Given the description of an element on the screen output the (x, y) to click on. 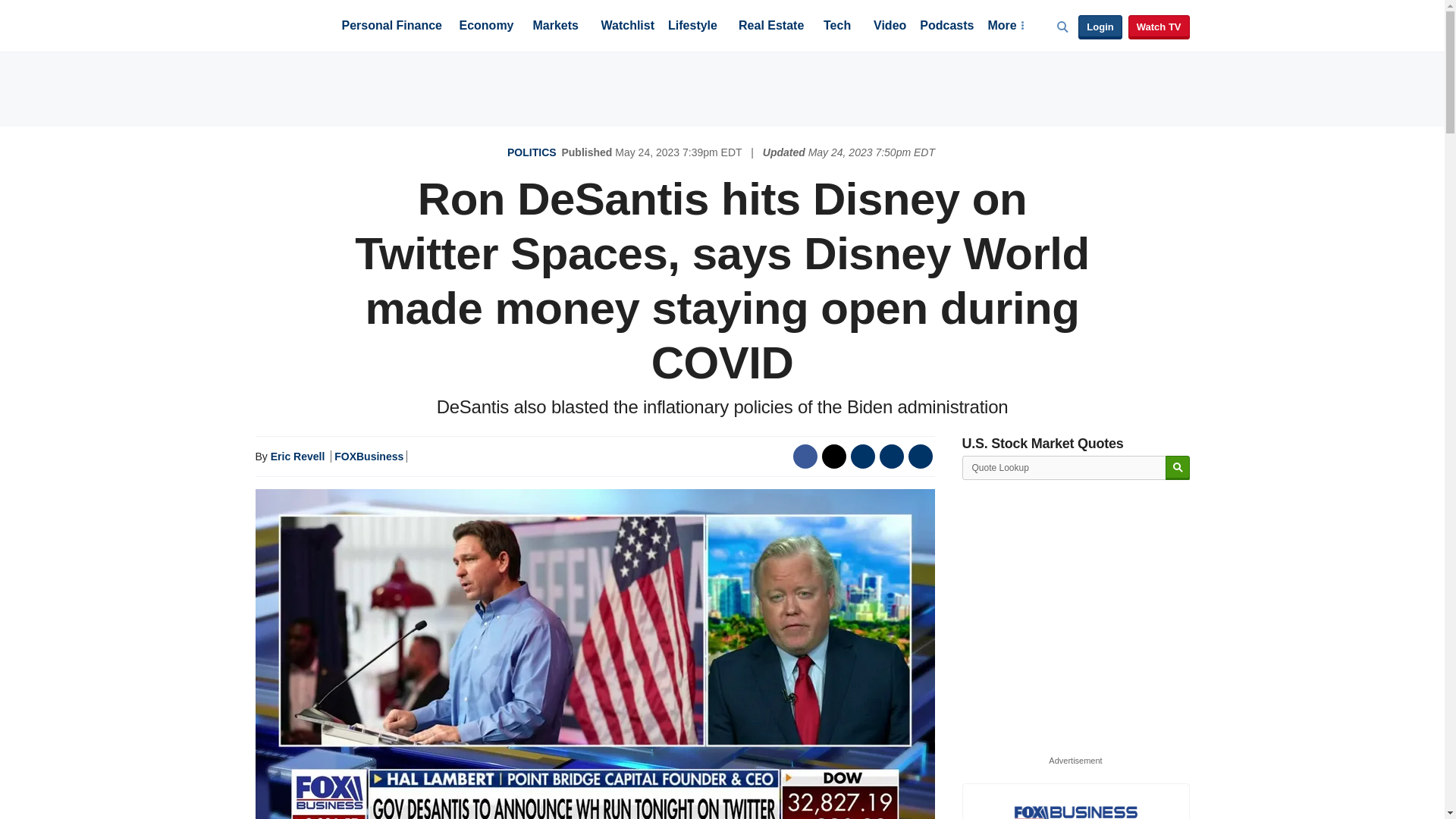
Fox Business (290, 24)
Login (1099, 27)
Markets (555, 27)
Watch TV (1158, 27)
Video (889, 27)
Lifestyle (692, 27)
Personal Finance (391, 27)
Tech (837, 27)
Economy (486, 27)
Search (1176, 467)
Watchlist (626, 27)
Real Estate (770, 27)
More (1005, 27)
Search (1176, 467)
Podcasts (947, 27)
